Given the description of an element on the screen output the (x, y) to click on. 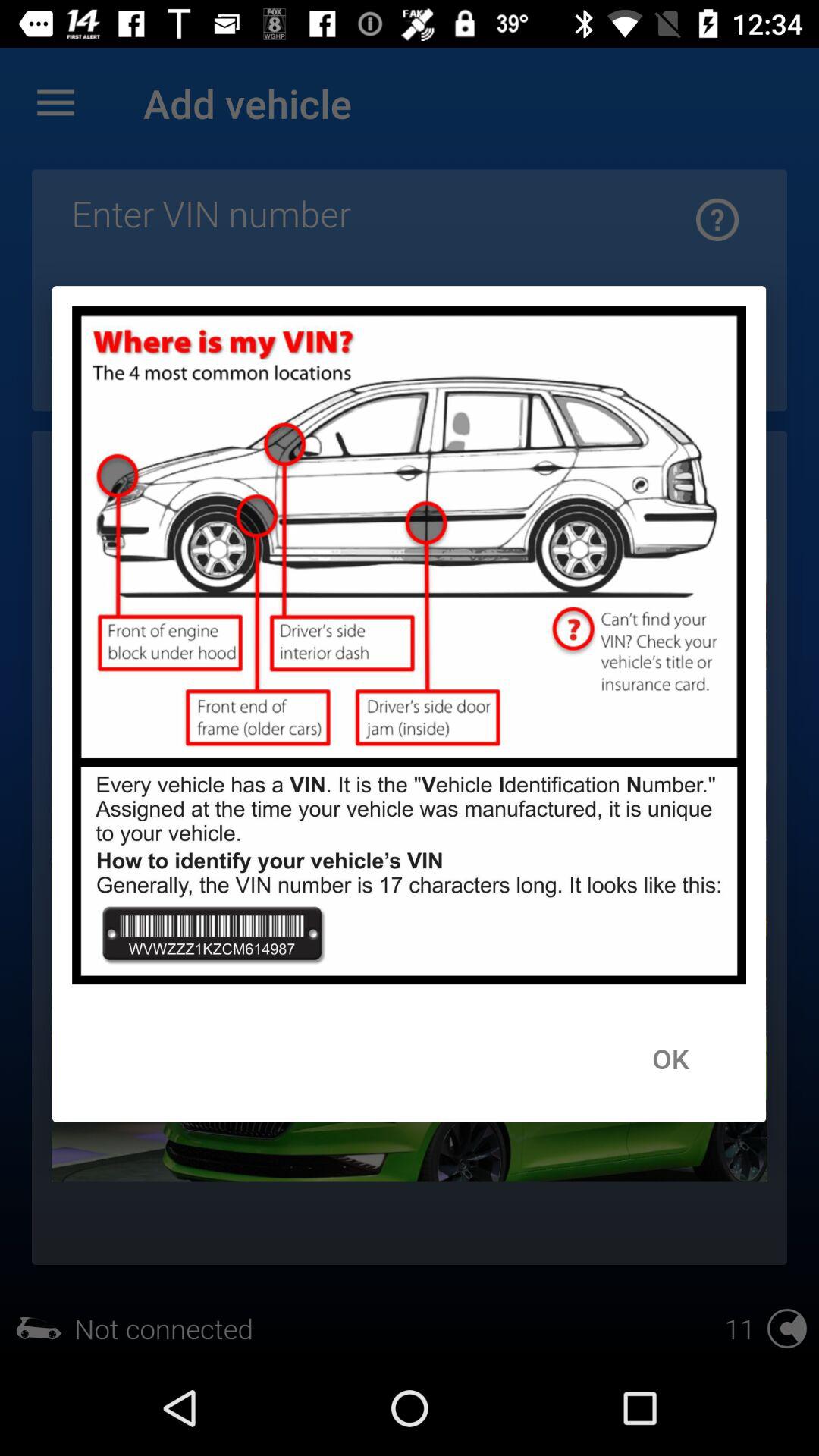
launch the ok item (670, 1058)
